Given the description of an element on the screen output the (x, y) to click on. 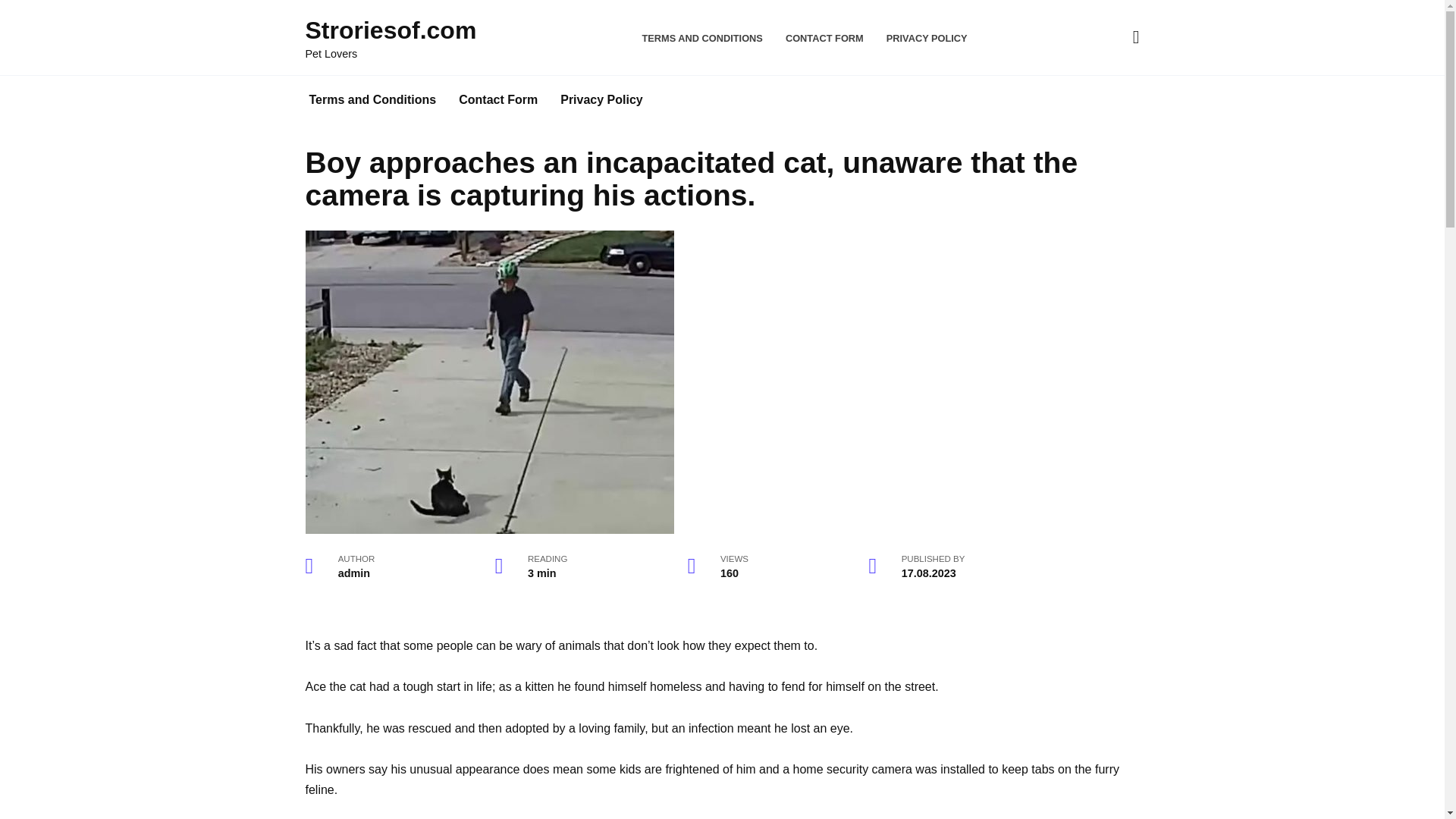
Stroriesof.com (390, 30)
Privacy Policy (600, 100)
TERMS AND CONDITIONS (702, 38)
PRIVACY POLICY (927, 38)
Contact Form (497, 100)
CONTACT FORM (824, 38)
Terms and Conditions (371, 100)
